Given the description of an element on the screen output the (x, y) to click on. 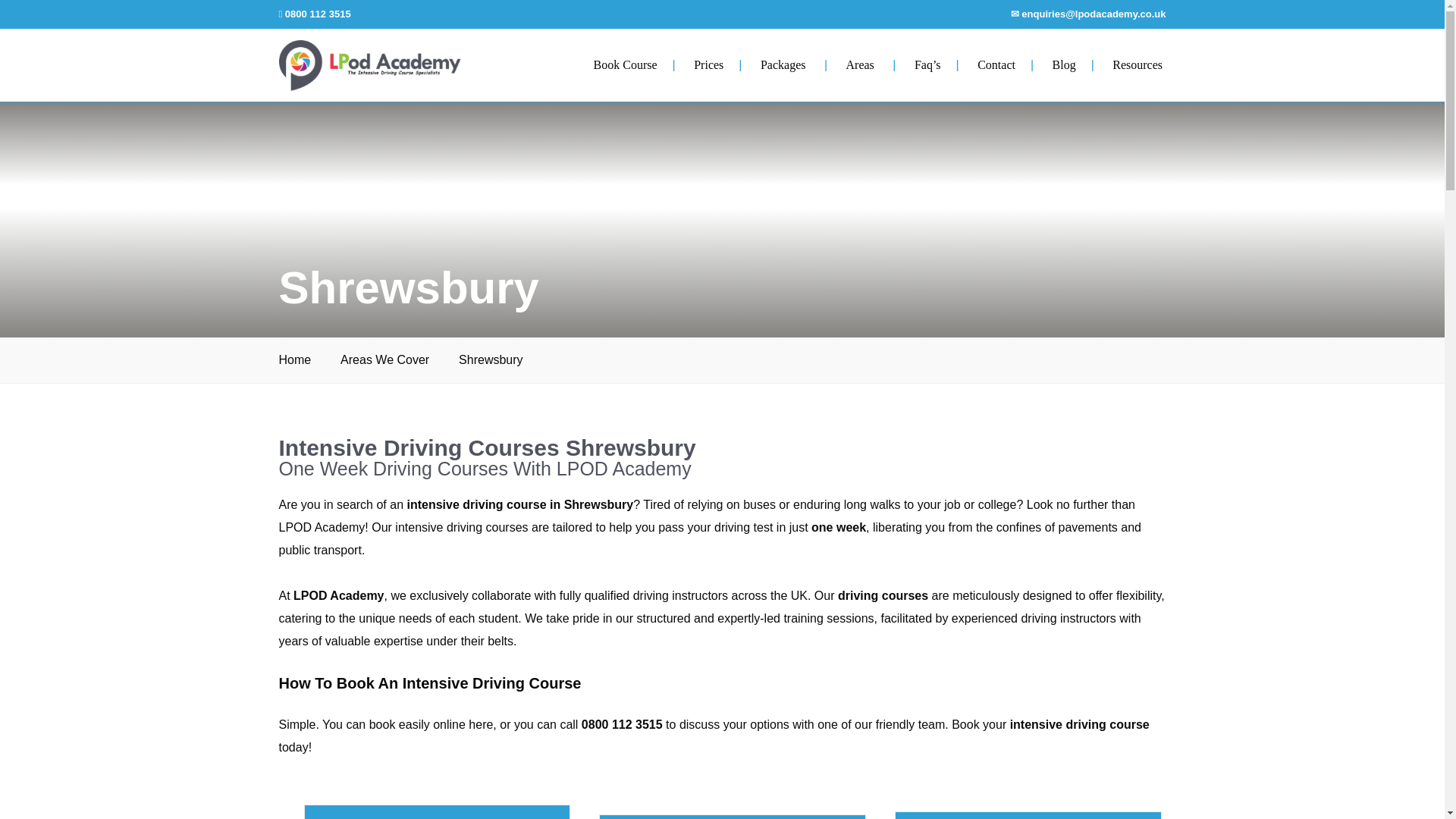
Areas (860, 64)
Contact (995, 64)
Book Course (626, 64)
Prices (708, 64)
Resources (1136, 64)
Blog (1063, 64)
Packages (783, 64)
